Given the description of an element on the screen output the (x, y) to click on. 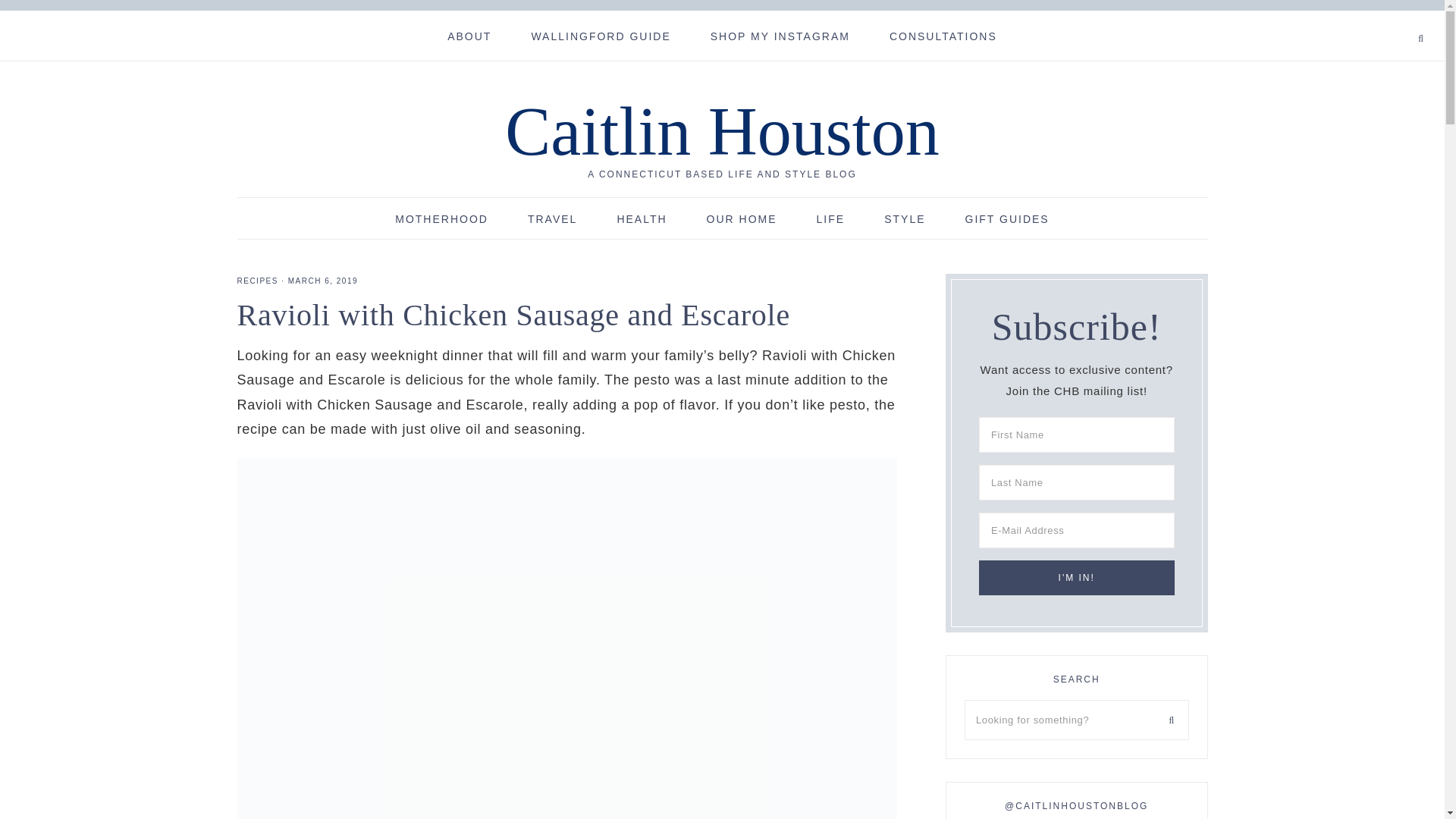
OUR HOME (741, 218)
LIFE (830, 218)
STYLE (904, 218)
MOTHERHOOD (441, 218)
GIFT GUIDES (1006, 218)
I'm in! (1076, 577)
TRAVEL (552, 218)
WALLINGFORD GUIDE (600, 34)
RECIPES (256, 280)
ABOUT (469, 34)
